Given the description of an element on the screen output the (x, y) to click on. 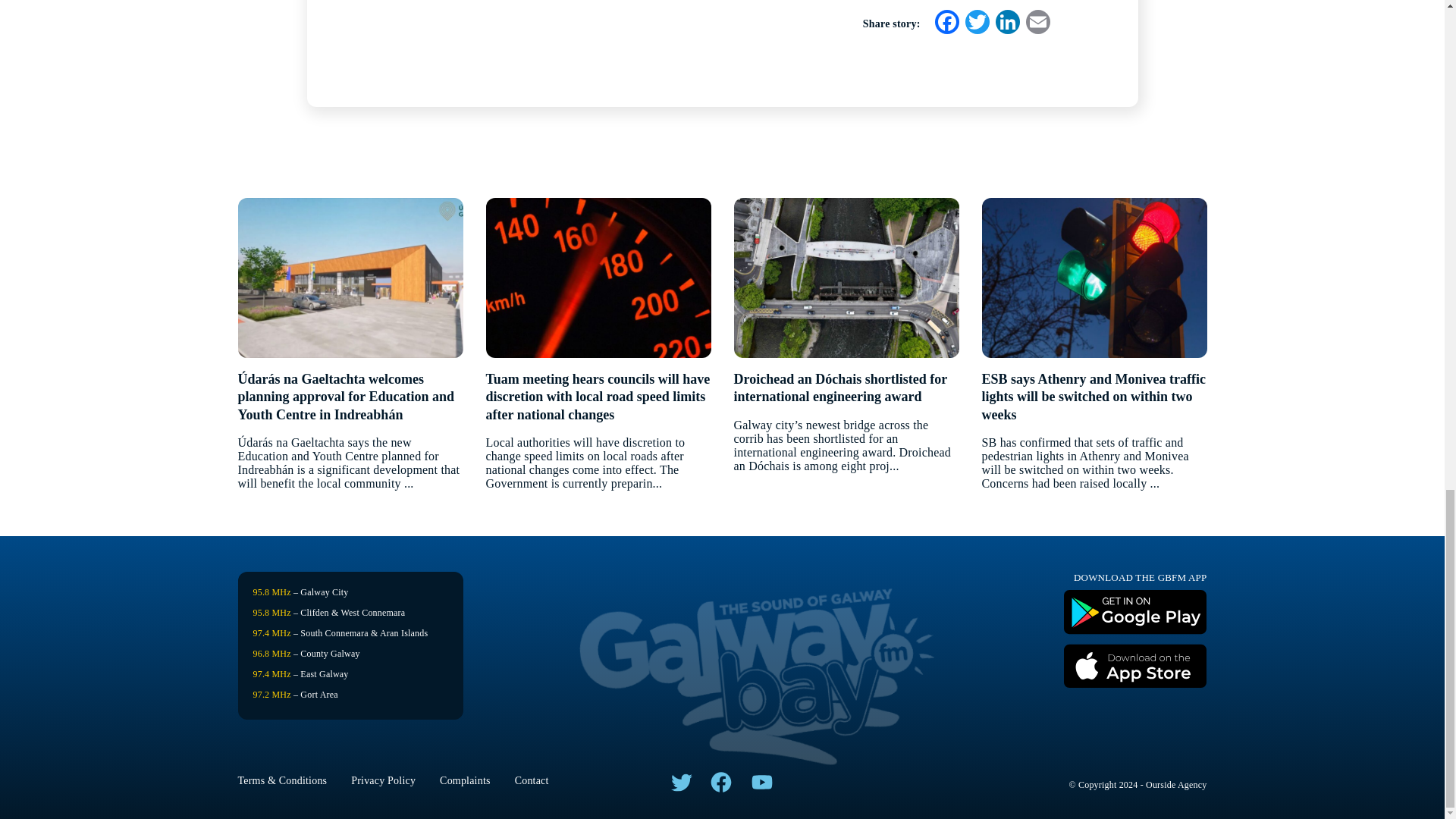
LinkedIn (1006, 23)
Email (1037, 23)
Twitter (975, 23)
Twitter (975, 23)
Facebook (945, 23)
LinkedIn (1006, 23)
Email (1037, 23)
Facebook (945, 23)
